Given the description of an element on the screen output the (x, y) to click on. 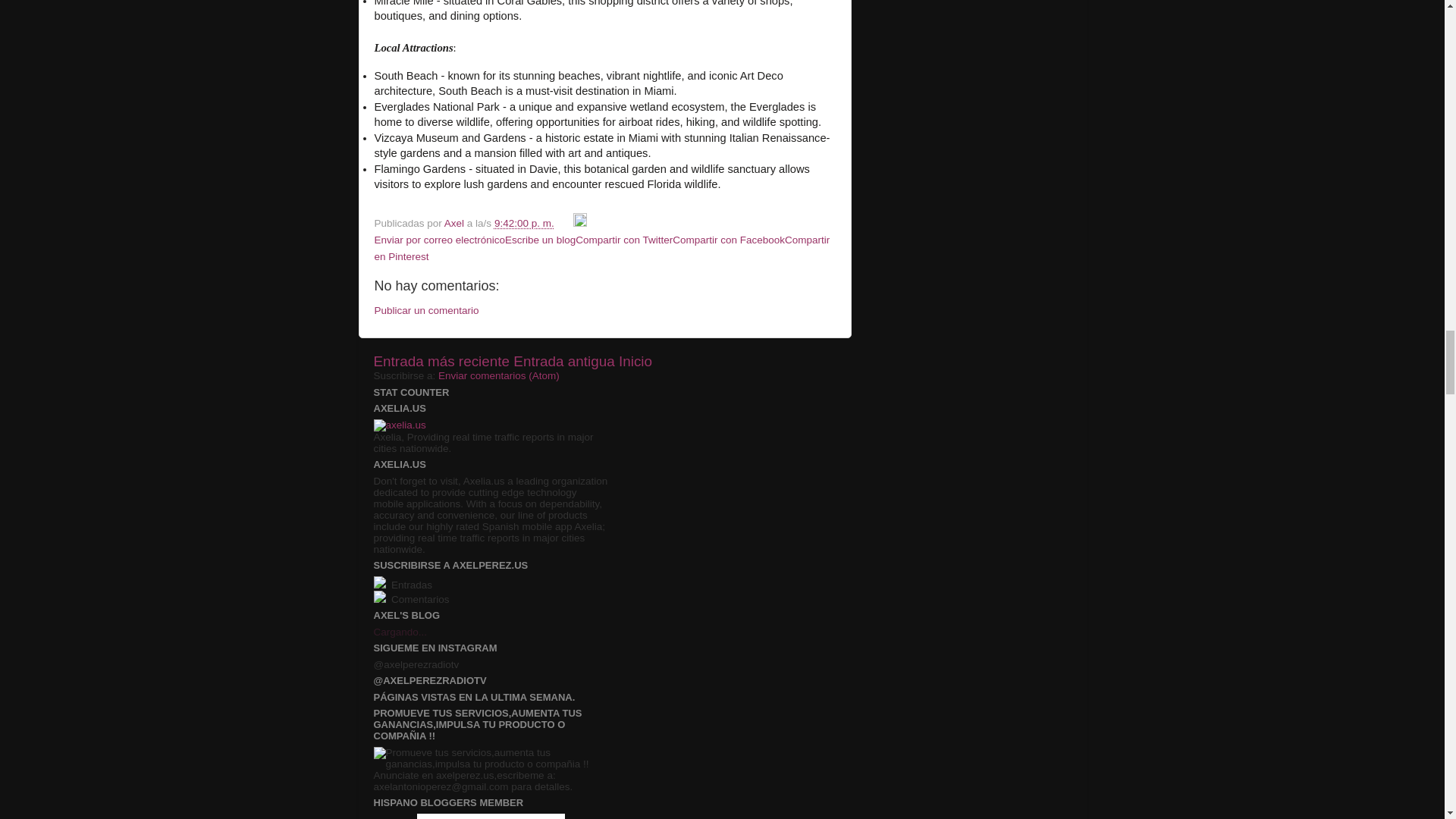
Compartir con Twitter (623, 239)
Editar entrada (579, 223)
permanent link (524, 223)
Compartir con Facebook (728, 239)
Escribe un blog (540, 239)
author profile (455, 223)
Compartir en Pinterest (601, 248)
9:42:00 p. m. (524, 223)
Entrada antigua (563, 360)
Axel (455, 223)
Escribe un blog (540, 239)
Compartir con Facebook (728, 239)
Cargando... (399, 632)
Inicio (635, 360)
Entrada antigua (563, 360)
